Given the description of an element on the screen output the (x, y) to click on. 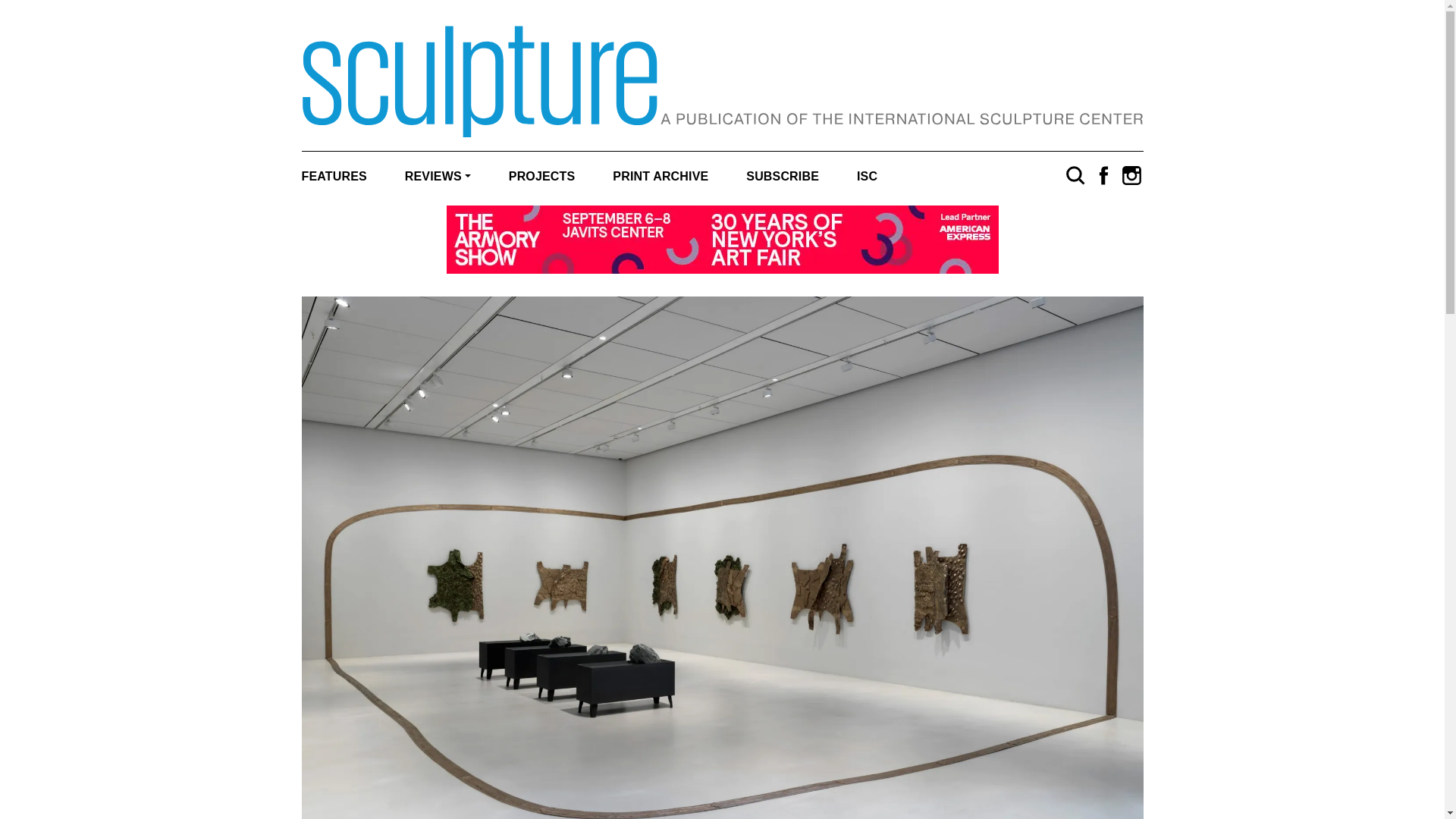
PRINT ARCHIVE (660, 176)
Projects (541, 176)
Print Archive (660, 176)
REVIEWS (437, 176)
ISC (867, 176)
Features (340, 176)
Reviews (437, 176)
ISC (867, 176)
Subscribe (782, 176)
PROJECTS (541, 176)
